Given the description of an element on the screen output the (x, y) to click on. 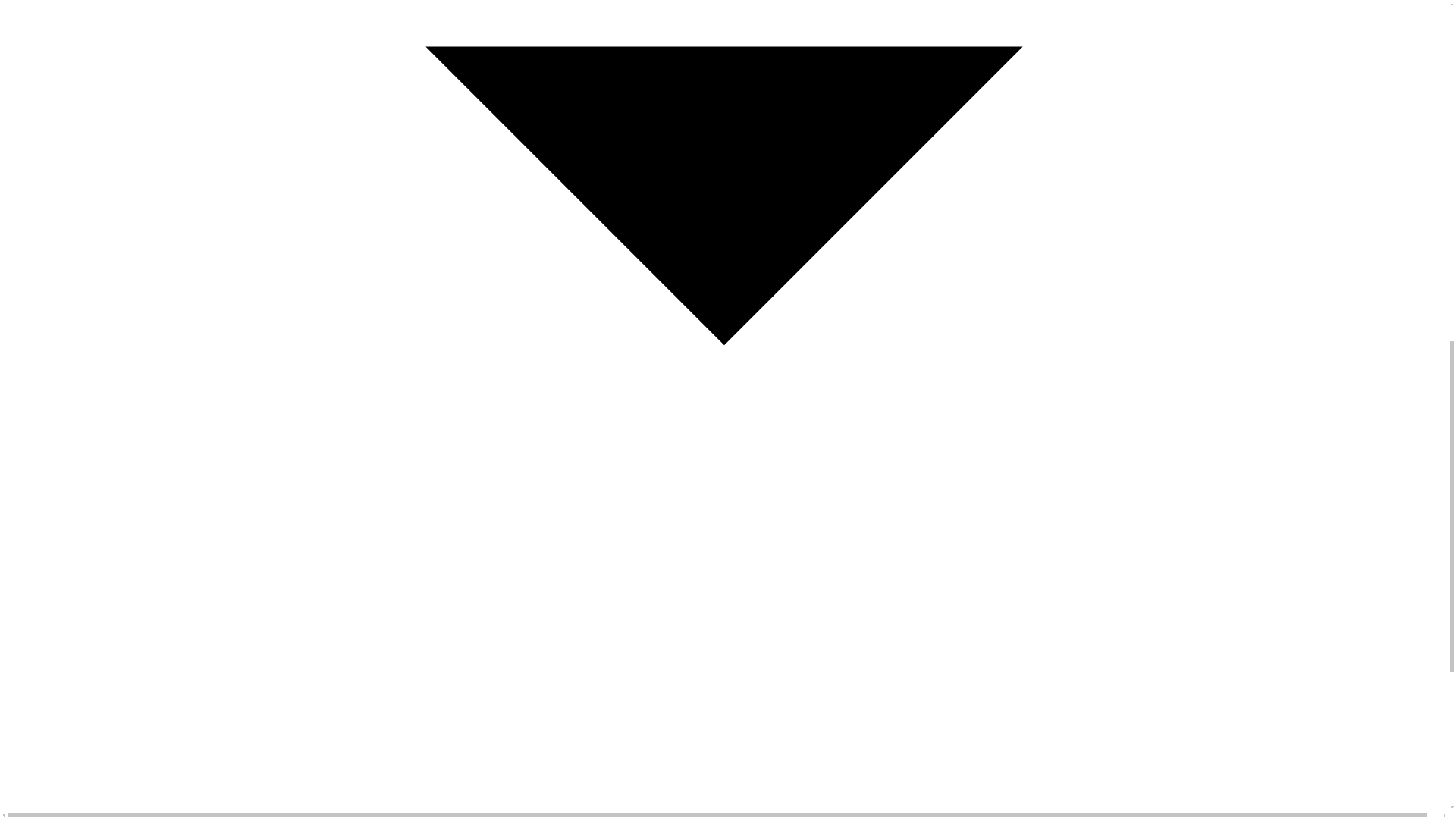
Egypt (514, 759)
Devenir un partenaire (857, 759)
Nous contacter (843, 736)
Cano Island (669, 736)
Bahamas (522, 808)
Cocos Island (670, 711)
Bat Island (664, 784)
Australia (521, 784)
Mexico (517, 736)
Bajo Alcyone (670, 759)
